Given the description of an element on the screen output the (x, y) to click on. 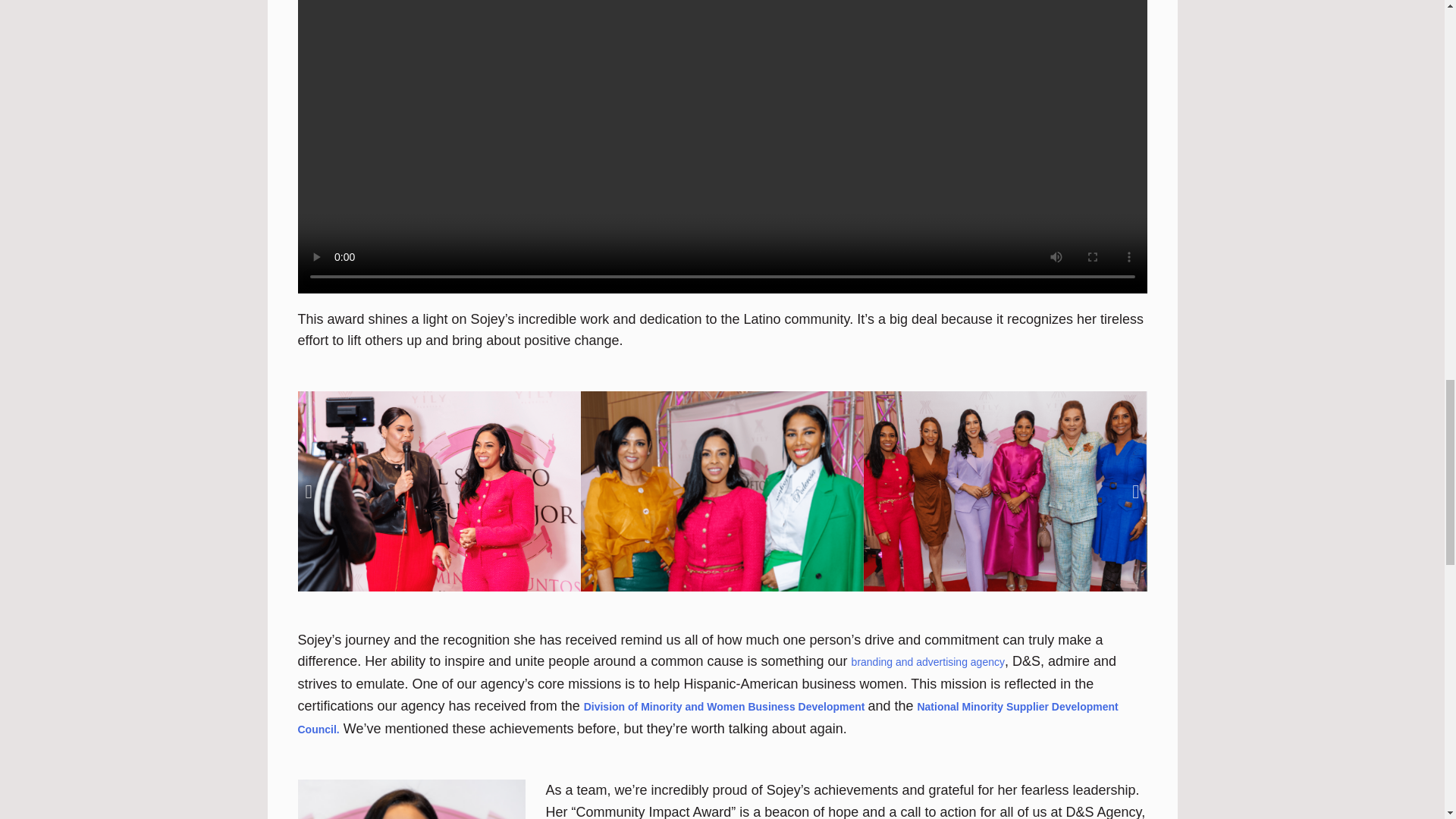
National Minority Supplier Development Council. (707, 718)
branding and advertising agency (927, 662)
Division of Minority and Women Business Development (723, 706)
